Given the description of an element on the screen output the (x, y) to click on. 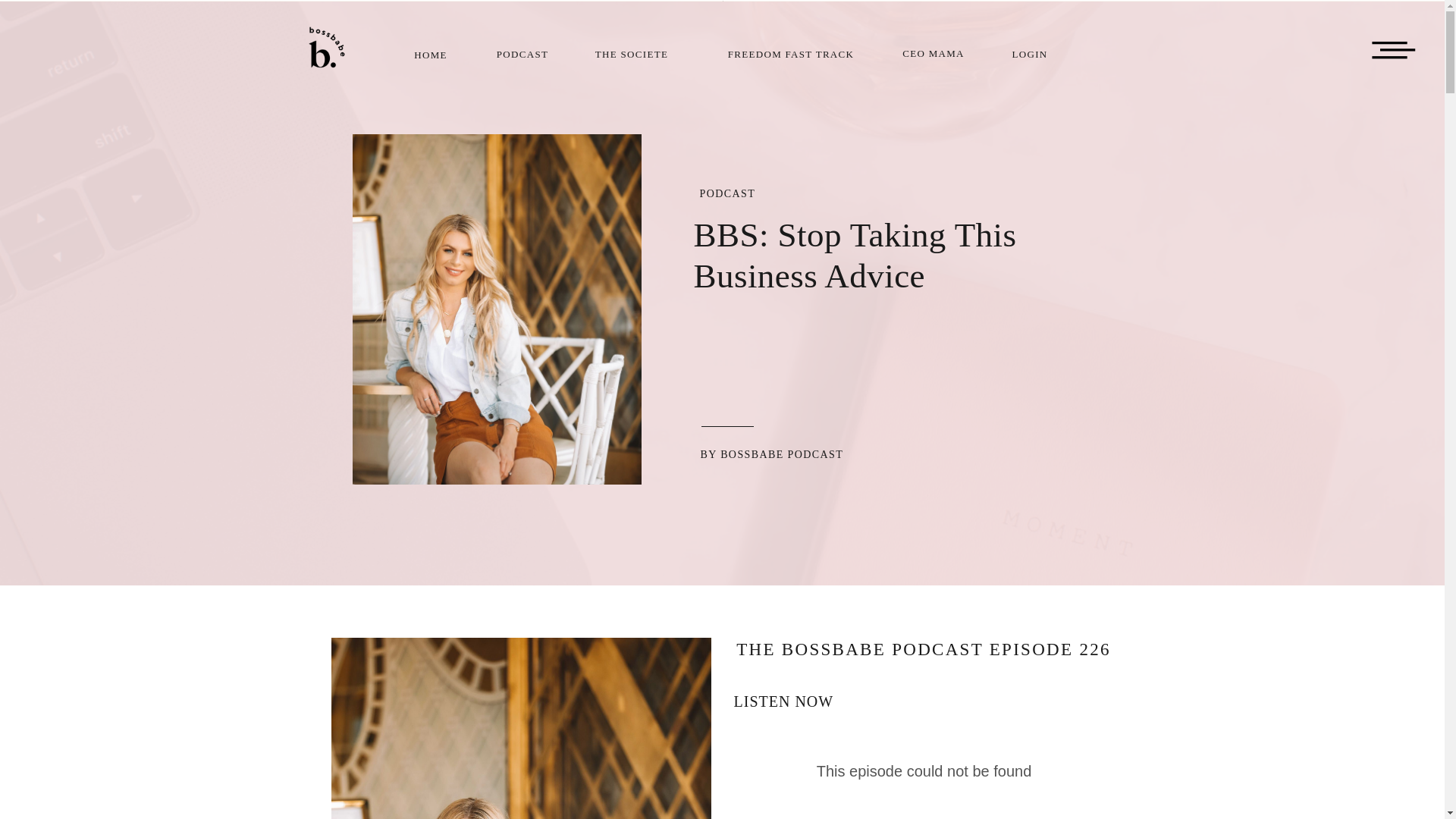
CEO MAMA (932, 51)
THE SOCIETE (630, 52)
PODCAST (521, 52)
LOGIN (1029, 51)
HOME (430, 53)
FREEDOM FAST TRACK (790, 52)
PODCAST (726, 193)
